Given the description of an element on the screen output the (x, y) to click on. 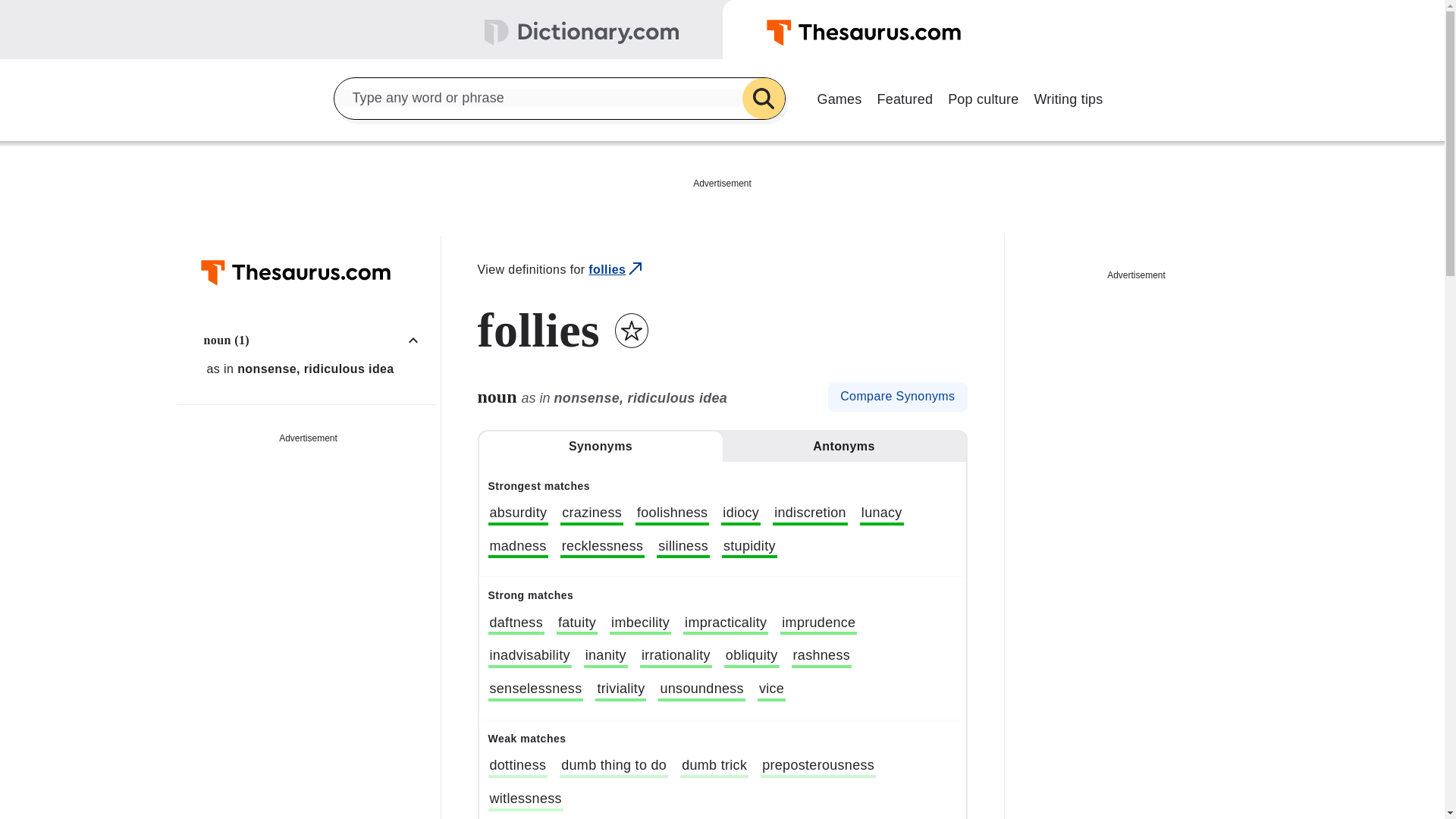
Writing tips (1067, 97)
as in nonsense, ridiculous idea (316, 369)
craziness (591, 514)
Games (839, 97)
follies (616, 270)
absurdity (517, 514)
Synonyms (600, 446)
Antonyms (843, 446)
Compare Synonyms (897, 396)
Pop culture (983, 97)
